Given the description of an element on the screen output the (x, y) to click on. 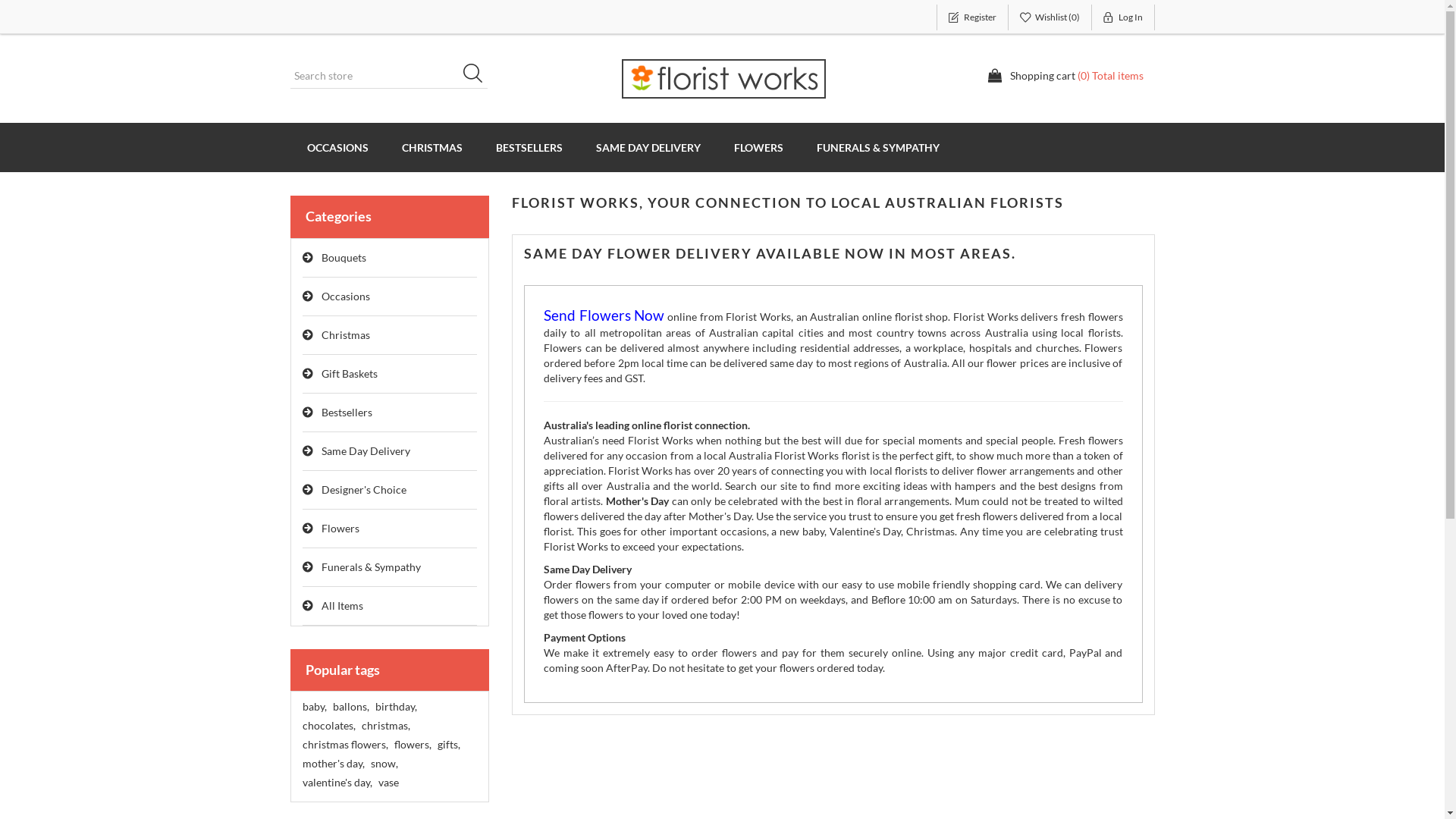
SAME DAY DELIVERY Element type: text (648, 147)
flowers, Element type: text (412, 744)
Register Element type: text (971, 17)
Shopping cart (0) Total items Element type: text (1065, 75)
baby, Element type: text (313, 706)
vase Element type: text (387, 782)
gifts, Element type: text (447, 744)
FLOWERS Element type: text (758, 147)
mother's day, Element type: text (332, 763)
Bestsellers Element type: text (388, 412)
Christmas Element type: text (388, 335)
Bouquets Element type: text (388, 257)
snow, Element type: text (383, 763)
ballons, Element type: text (350, 706)
Occasions Element type: text (388, 296)
valentine's day, Element type: text (336, 782)
Wishlist (0) Element type: text (1050, 17)
birthday, Element type: text (395, 706)
Funerals & Sympathy Element type: text (388, 567)
christmas flowers, Element type: text (344, 744)
chocolates, Element type: text (327, 725)
Gift Baskets Element type: text (388, 373)
Designer's Choice Element type: text (388, 489)
Same Day Delivery Element type: text (388, 451)
CHRISTMAS Element type: text (432, 147)
All Items Element type: text (388, 605)
FUNERALS & SYMPATHY Element type: text (877, 147)
BESTSELLERS Element type: text (529, 147)
Flowers Element type: text (388, 528)
OCCASIONS Element type: text (336, 147)
christmas, Element type: text (384, 725)
Log In Element type: text (1123, 17)
Send Flowers Now Element type: text (603, 316)
